Given the description of an element on the screen output the (x, y) to click on. 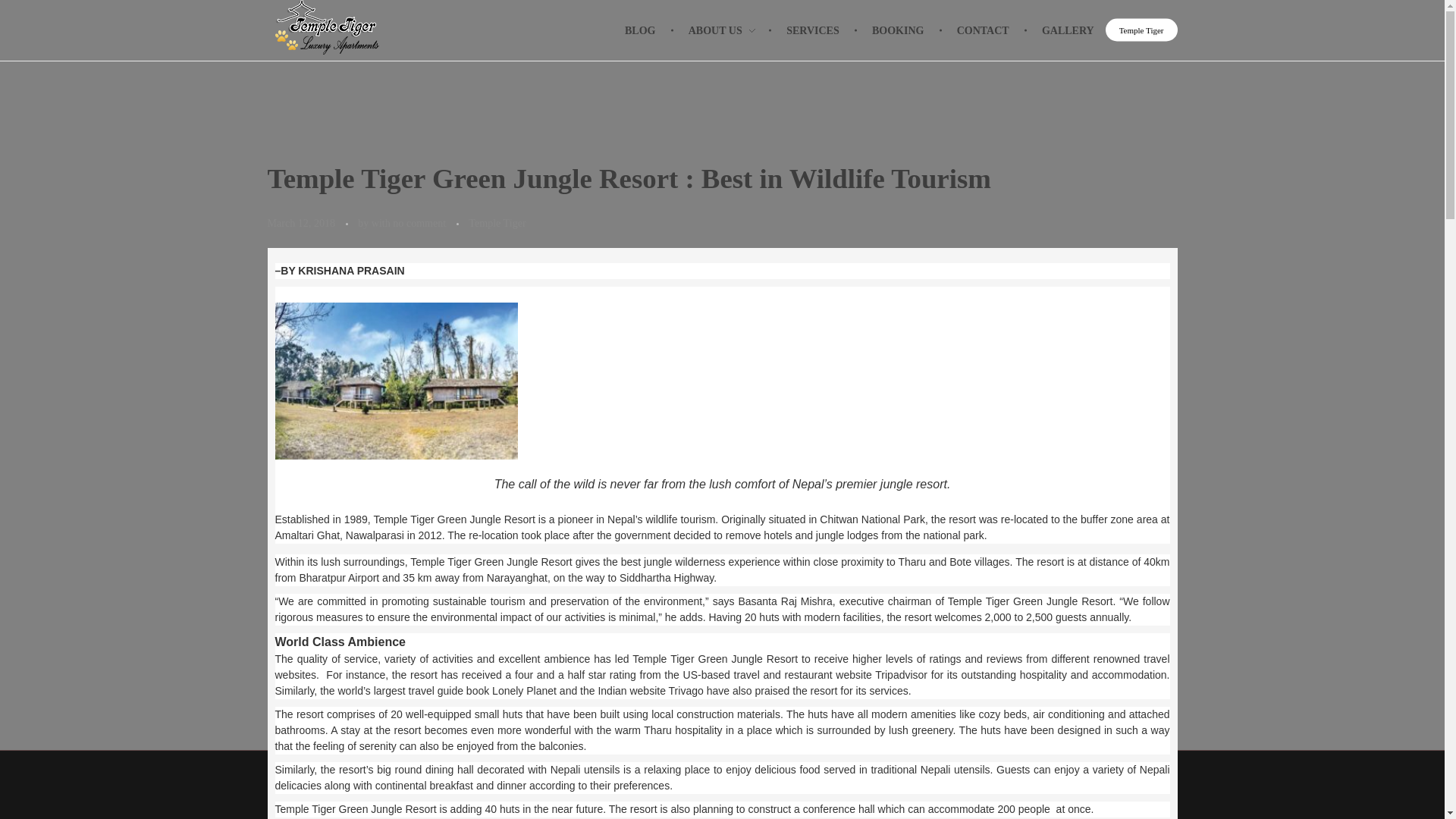
SERVICES (816, 22)
View all posts in Temple Tiger (496, 222)
BOOKING (901, 24)
Temple Tiger Luxury Apartment (285, 784)
ABOUT US (722, 19)
GALLERY (1060, 26)
CONTACT (984, 25)
Temple Tiger (1141, 3)
Temple Tiger (496, 222)
BLOG (649, 16)
